Given the description of an element on the screen output the (x, y) to click on. 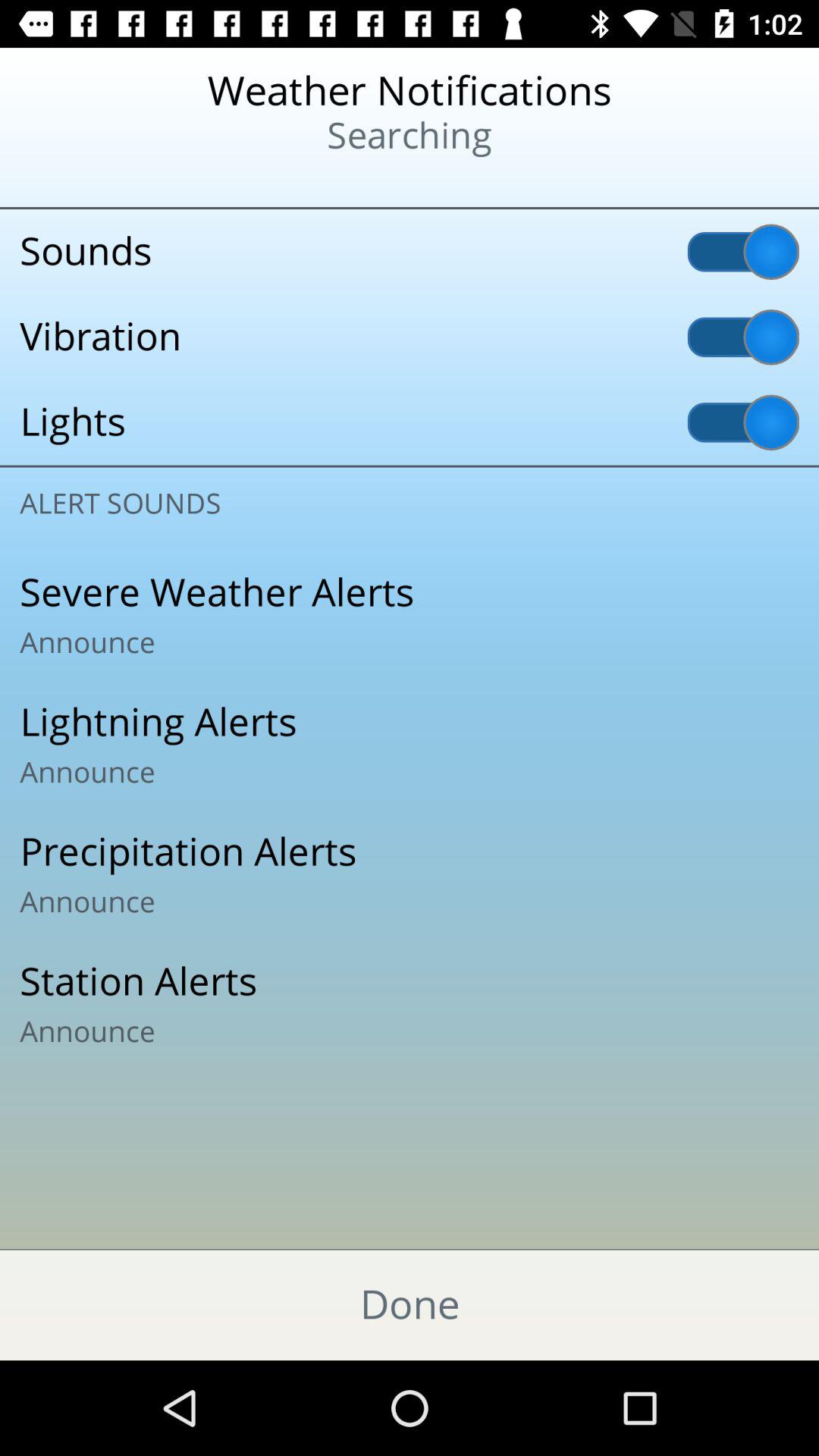
press the icon below sounds (409, 336)
